Given the description of an element on the screen output the (x, y) to click on. 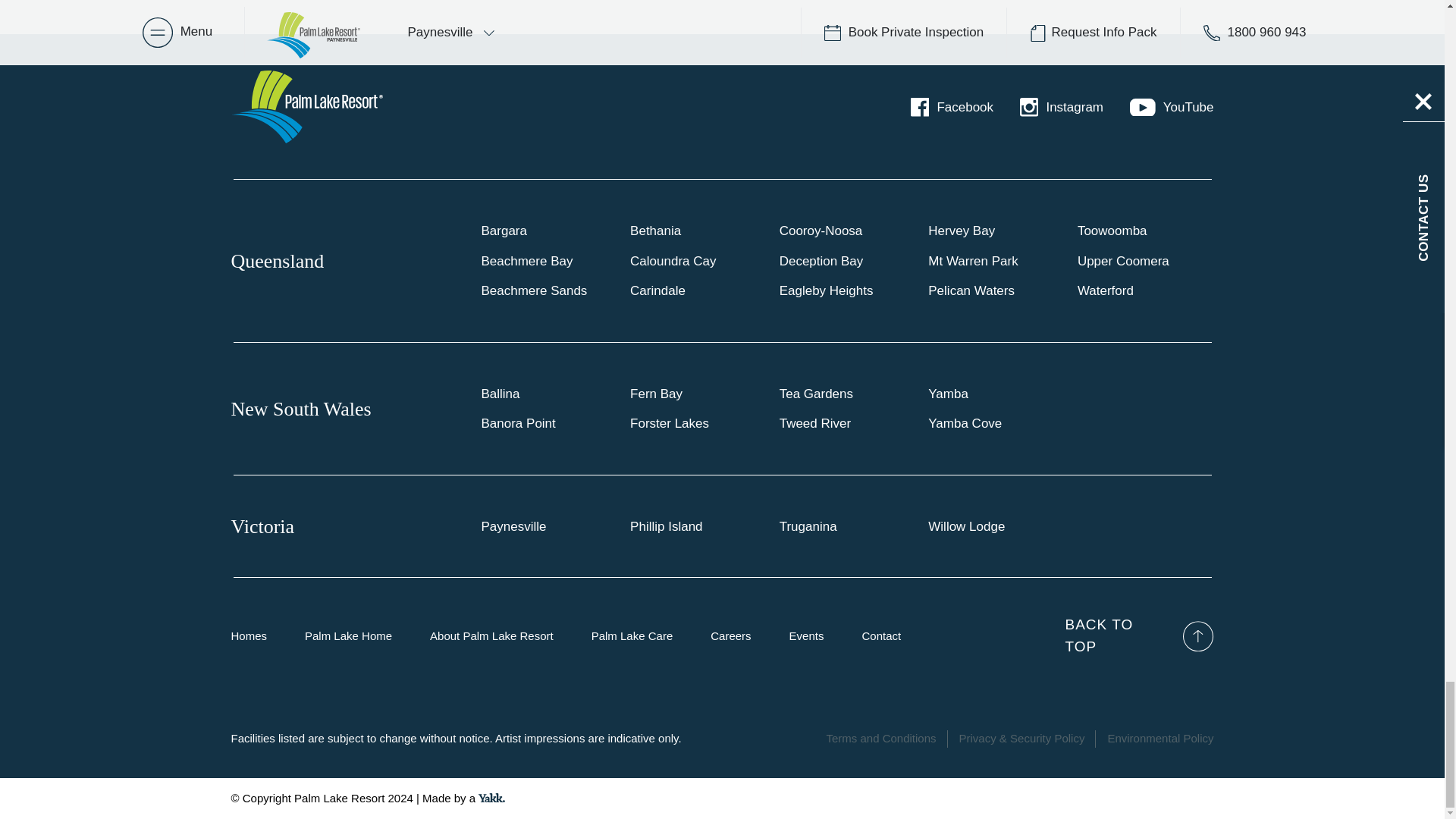
Palm Lake Resort (305, 106)
